Given the description of an element on the screen output the (x, y) to click on. 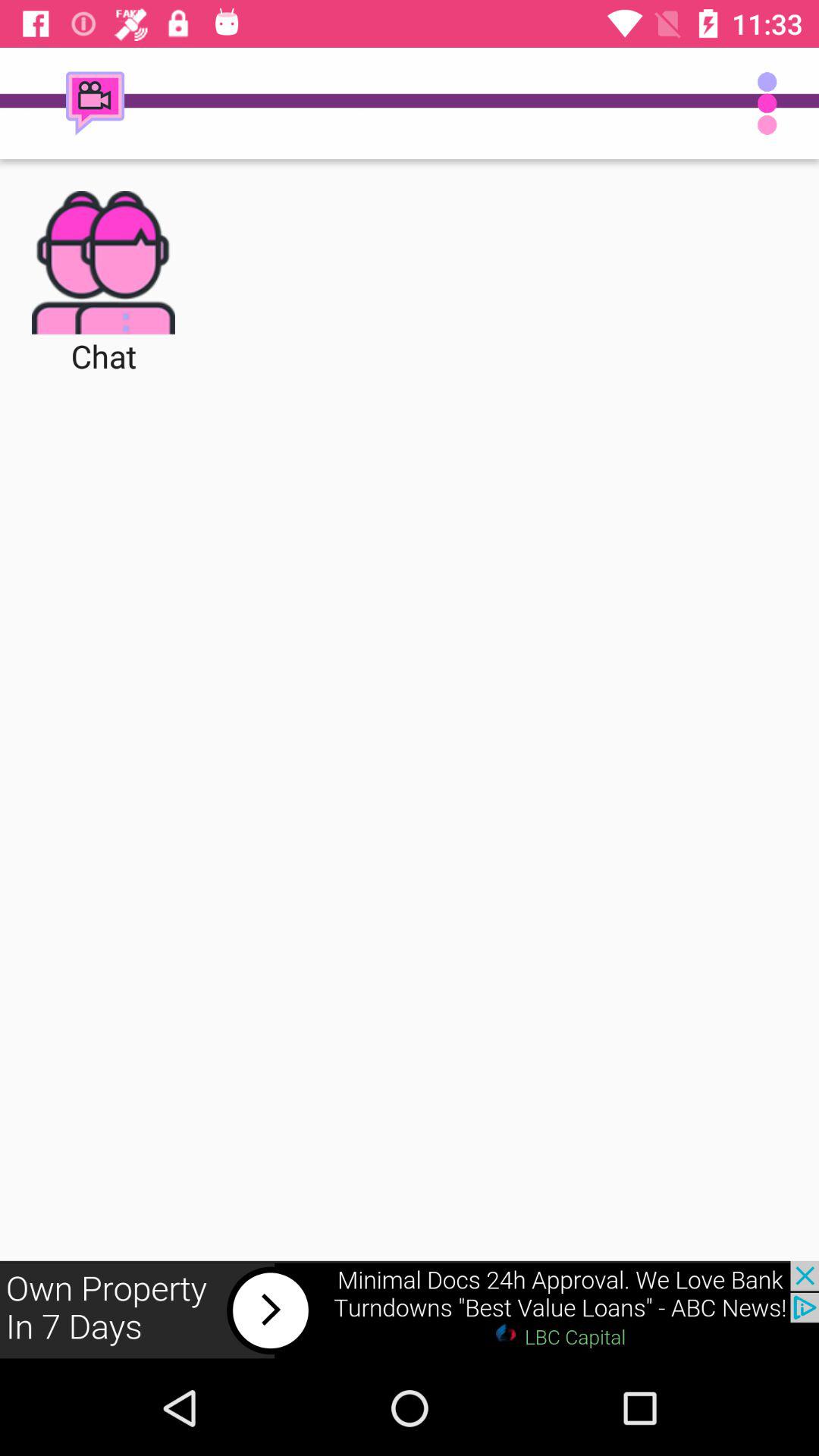
click advertisement (409, 1310)
